Given the description of an element on the screen output the (x, y) to click on. 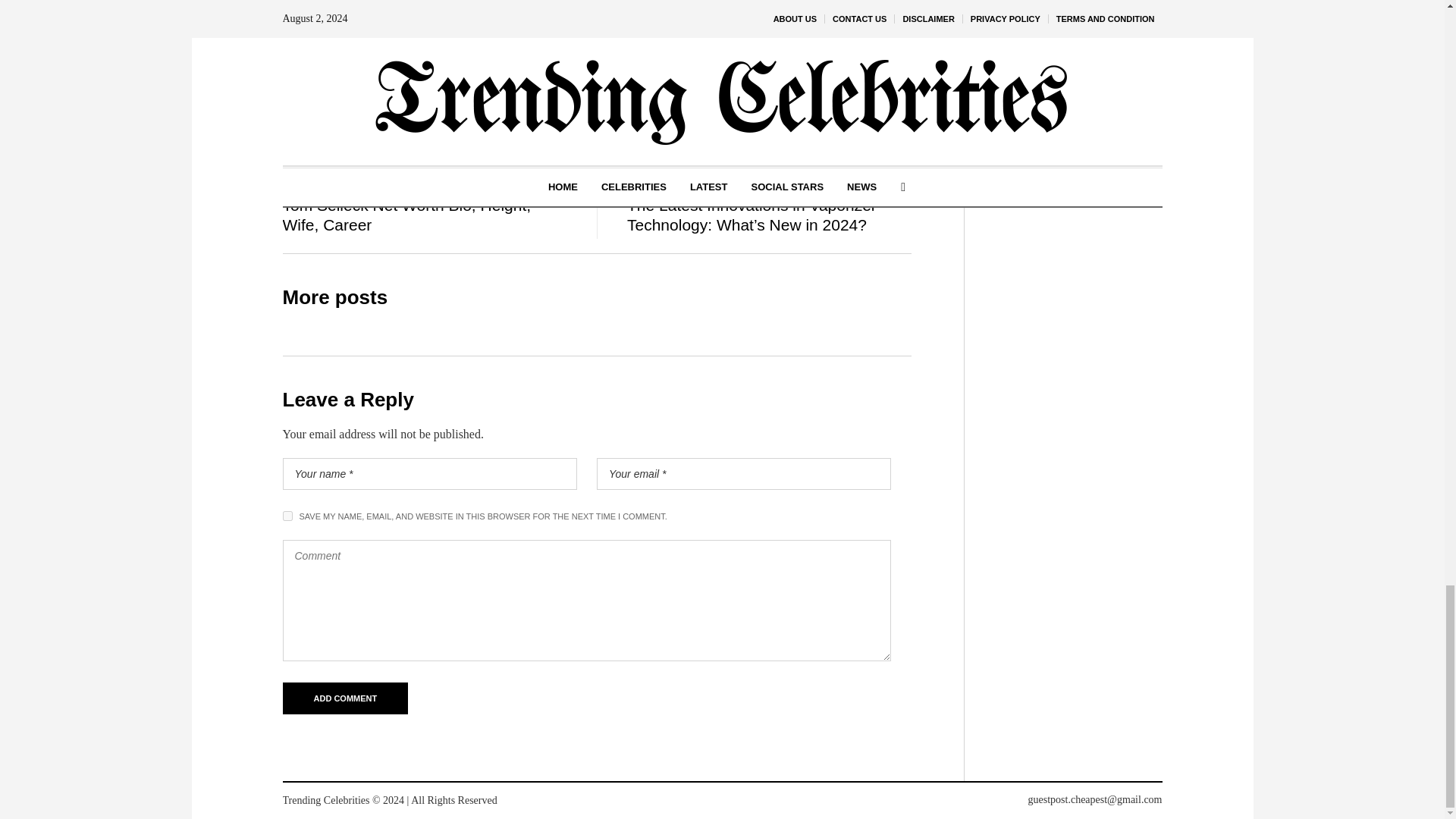
Add Comment (344, 698)
Add Comment (344, 698)
Tom Selleck Net Worth Bio, Height, Wife, Career (406, 215)
yes (287, 515)
Celebrity Elopements in Vegas (538, 103)
memorable wedding (780, 10)
